Given the description of an element on the screen output the (x, y) to click on. 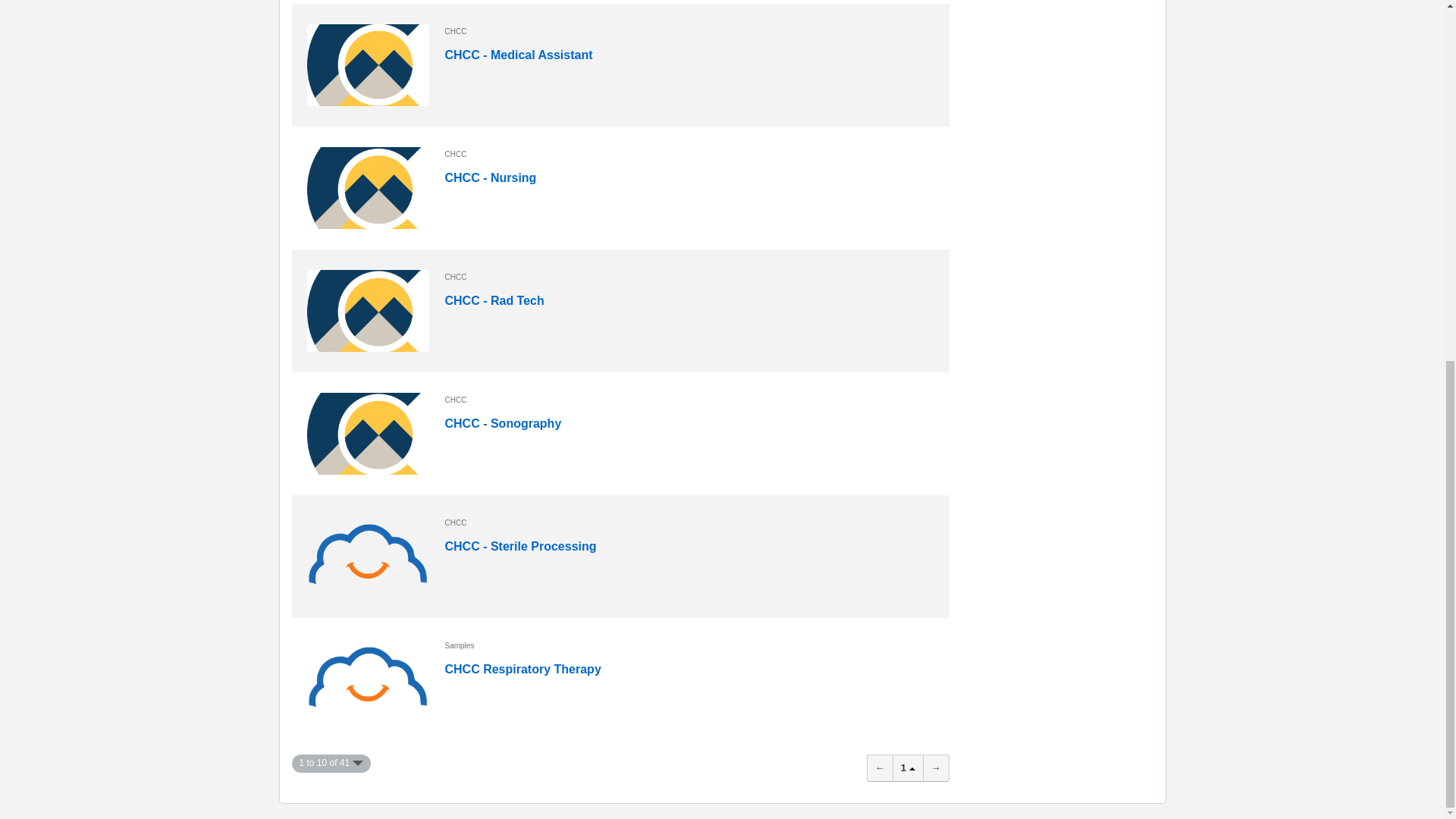
CHCC - Nursing (489, 177)
1  (907, 768)
CHCC - Sonography (502, 422)
CHCC - Medical Assistant (518, 54)
CHCC Respiratory Therapy (521, 668)
CHCC (690, 154)
CHCC - Medical Assistant (368, 65)
CHCC (690, 31)
CHCC - Sterile Processing (519, 545)
CHCC - Nursing (368, 188)
